Given the description of an element on the screen output the (x, y) to click on. 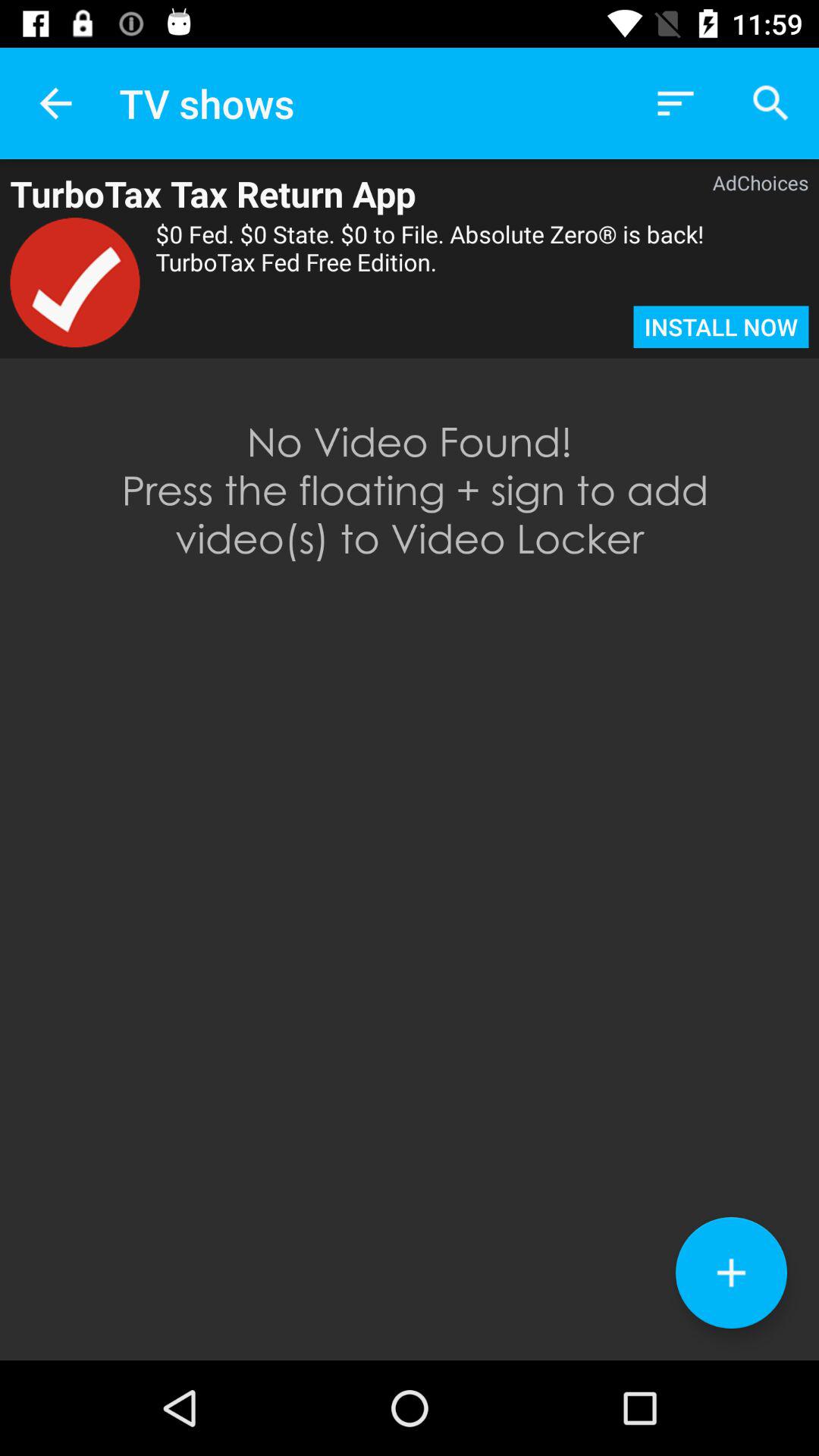
add video (731, 1272)
